Given the description of an element on the screen output the (x, y) to click on. 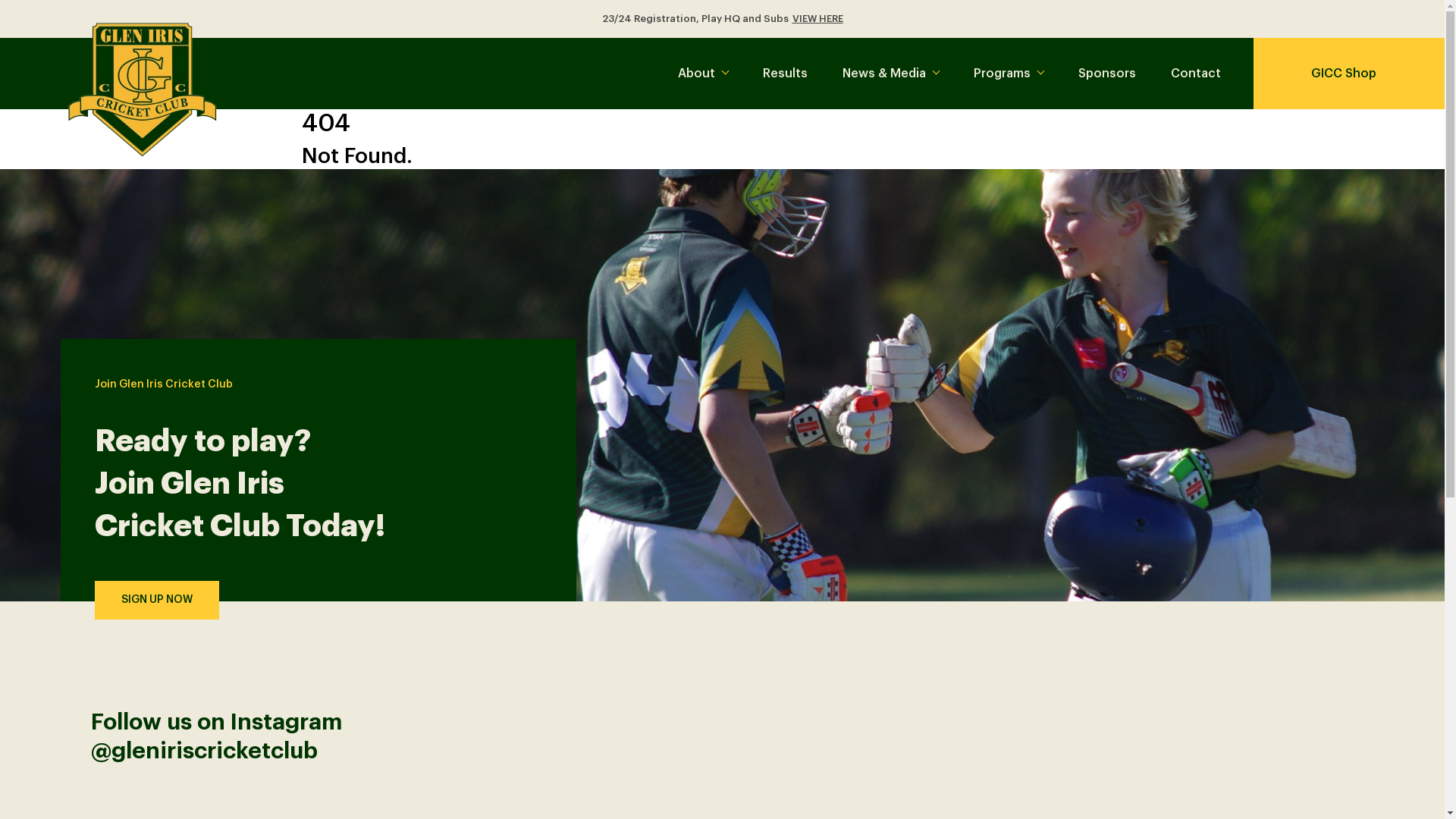
Sponsors Element type: text (1107, 72)
Results Element type: text (784, 72)
GICC Shop Element type: text (1348, 72)
Contact Element type: text (1195, 72)
SIGN UP NOW Element type: text (156, 599)
Programs Element type: text (1008, 72)
Page not found - Glen Iris Cricket Club Element type: hover (142, 89)
VIEW HERE Element type: text (816, 18)
About Element type: text (702, 72)
News & Media Element type: text (890, 72)
